Given the description of an element on the screen output the (x, y) to click on. 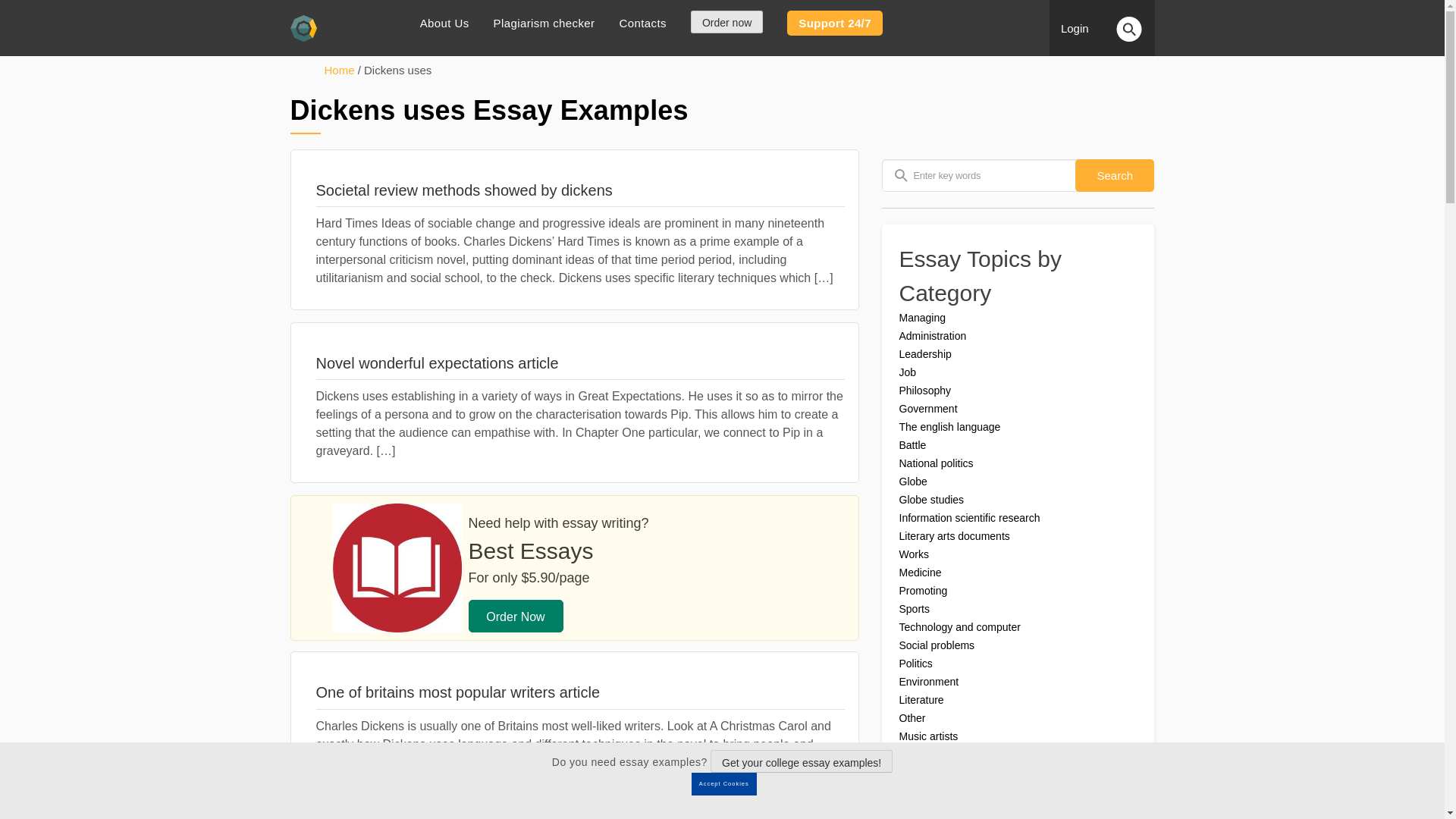
Order Now (515, 615)
Leadership (925, 354)
Information scientific research (970, 517)
Philosophy (925, 390)
Battle (912, 444)
Administration (932, 336)
One of britains most popular writers article (579, 692)
Literary arts documents (954, 535)
Promoting (923, 590)
Societal review methods showed by dickens (579, 190)
About Us (444, 22)
Search (1114, 174)
Government (928, 408)
Medicine (920, 572)
Works (913, 553)
